Given the description of an element on the screen output the (x, y) to click on. 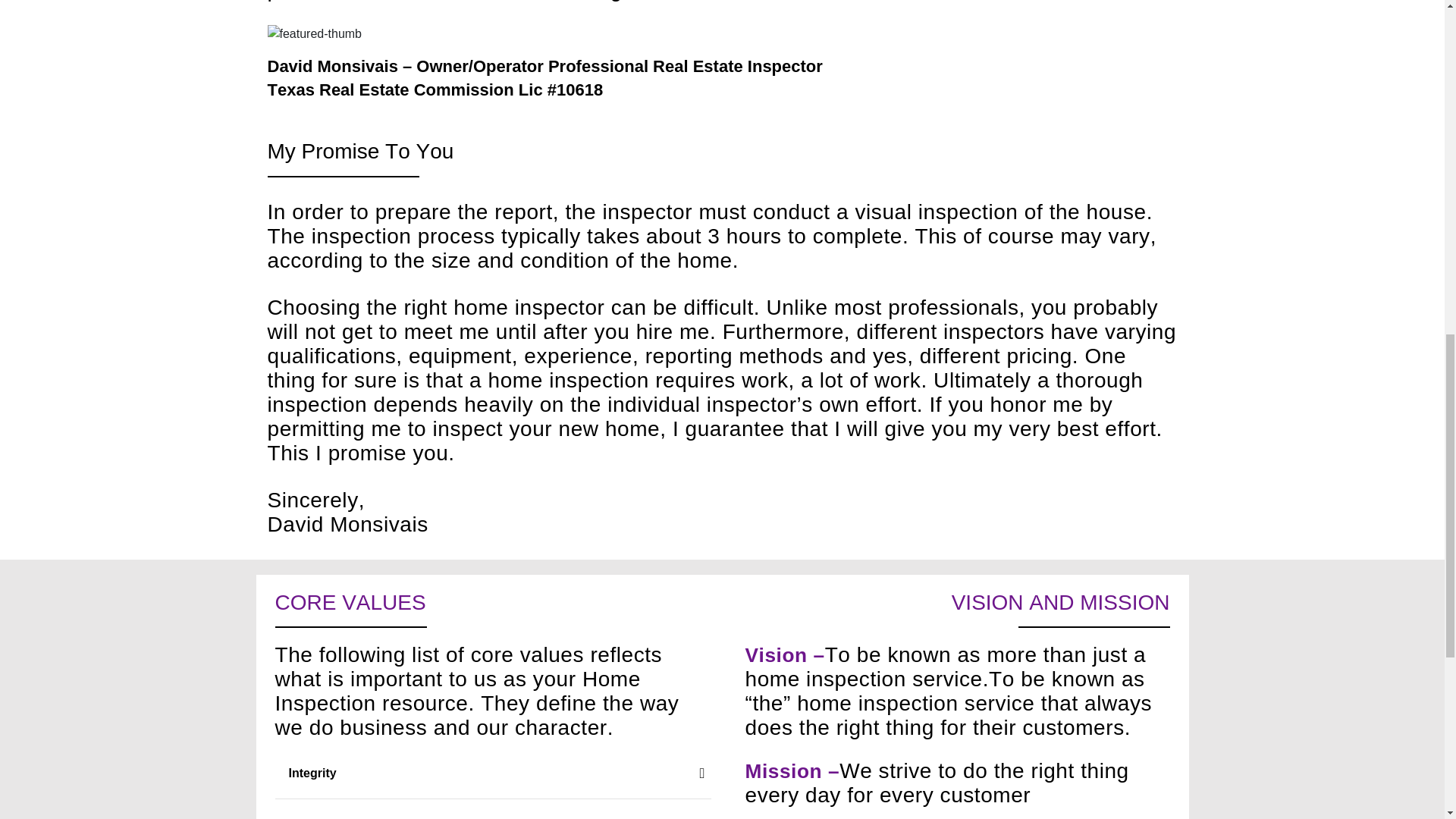
Trust (492, 809)
Integrity (492, 772)
